Given the description of an element on the screen output the (x, y) to click on. 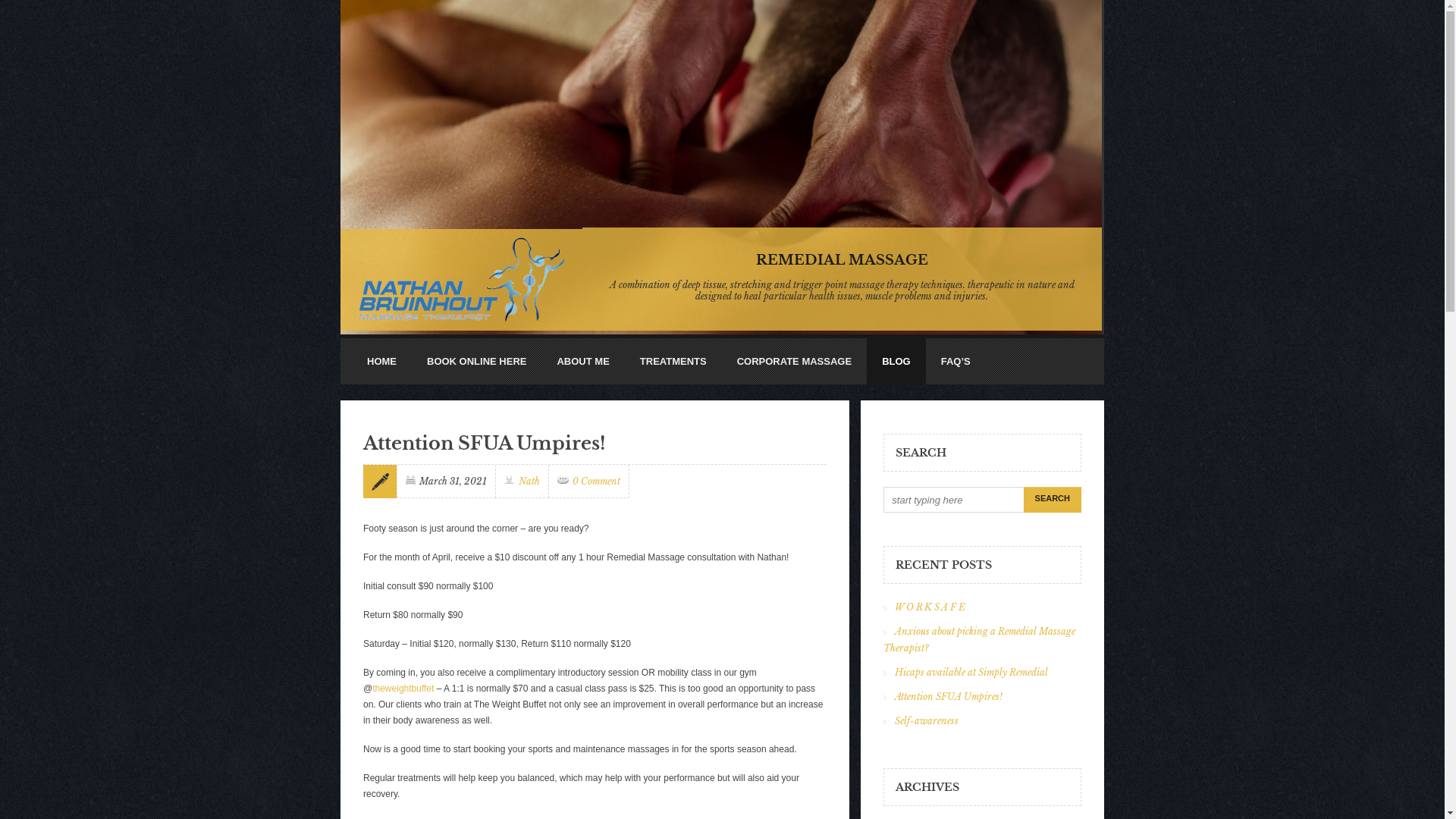
BOOK ONLINE HERE Element type: text (476, 361)
TREATMENTS Element type: text (672, 361)
HOME Element type: text (381, 361)
0 Comment Element type: text (596, 480)
ABOUT ME Element type: text (582, 361)
theweightbuffet Element type: text (402, 688)
Anxious about picking a Remedial Massage Therapist? Element type: text (978, 639)
Attention SFUA Umpires! Element type: text (948, 696)
Nath Element type: text (528, 480)
BLOG Element type: text (895, 361)
W O R K S A F E Element type: text (929, 606)
Self-awareness Element type: text (926, 720)
CORPORATE MASSAGE Element type: text (793, 361)
Hicaps available at Simply Remedial Element type: text (971, 671)
Search Element type: text (1052, 499)
